Given the description of an element on the screen output the (x, y) to click on. 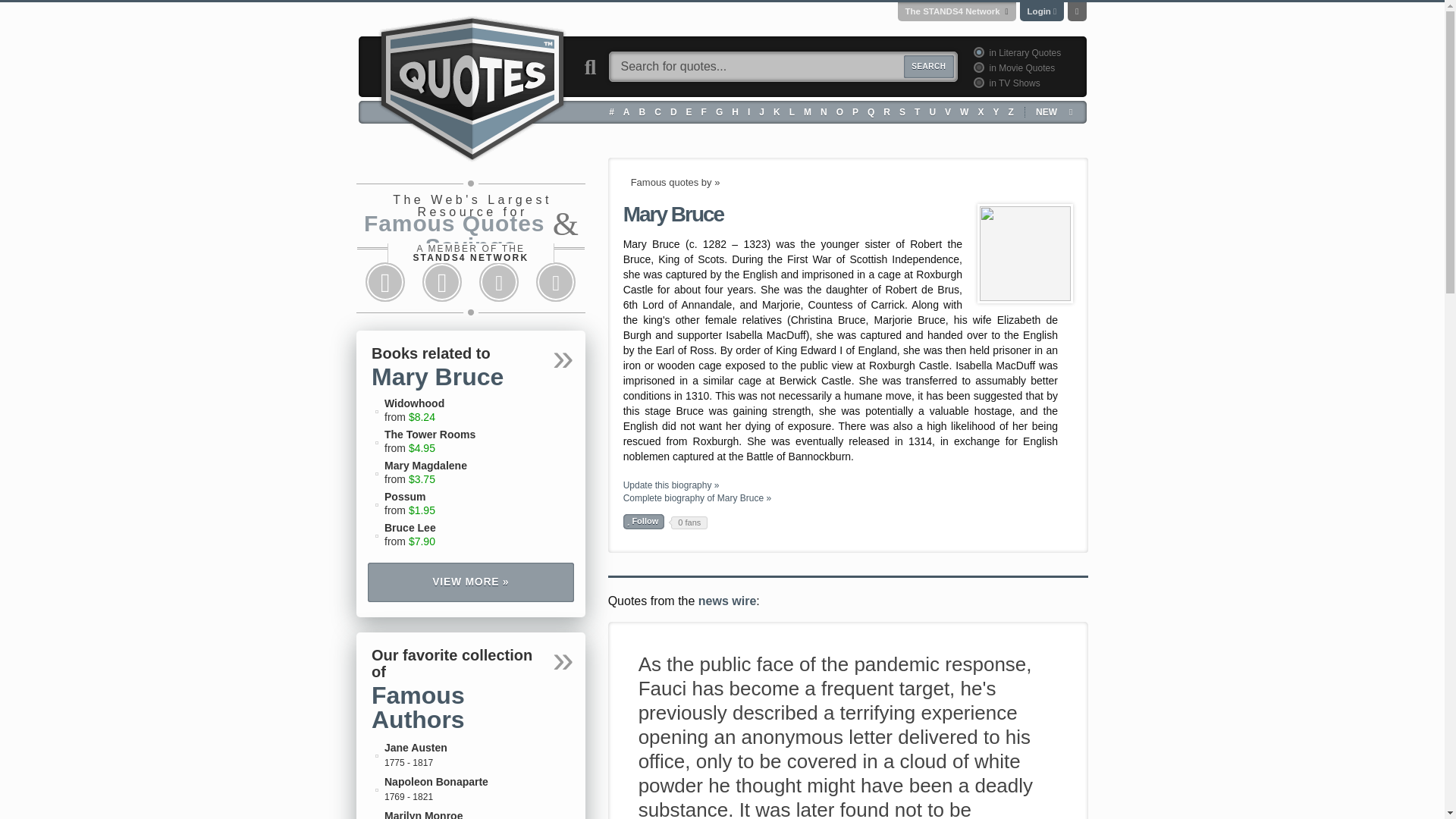
Share this page on Twitter (441, 282)
Share this page on Reddit (498, 282)
click to add your vote (644, 521)
2 (976, 67)
Share this page with AddToAny (556, 282)
SEARCH (928, 66)
Share this page on Facebook (384, 282)
4 (976, 81)
Login (1039, 10)
Mary Bruce (1024, 253)
Quotes.net (471, 86)
1 (976, 51)
